Given the description of an element on the screen output the (x, y) to click on. 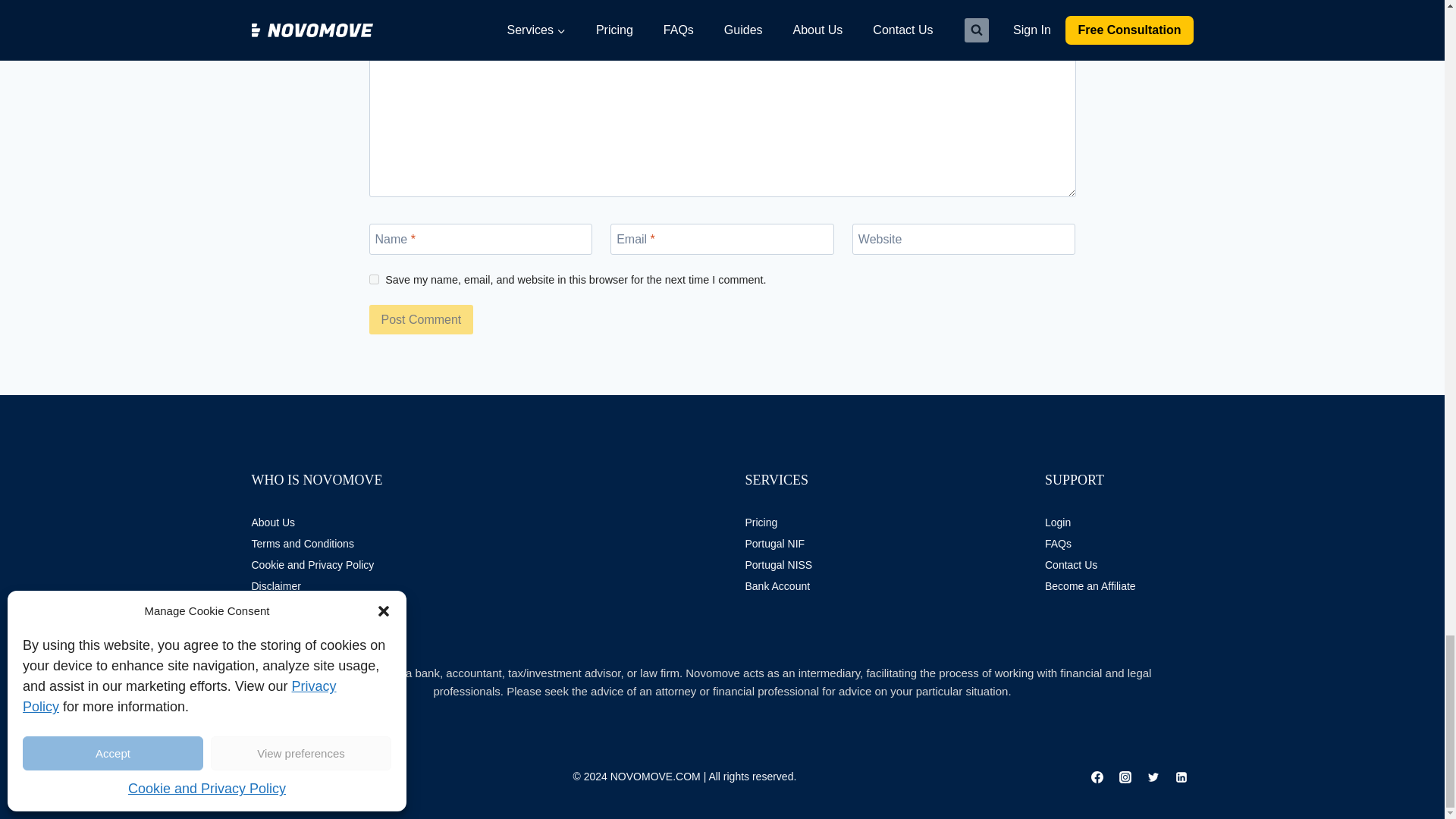
yes (373, 279)
Post Comment (420, 318)
